Given the description of an element on the screen output the (x, y) to click on. 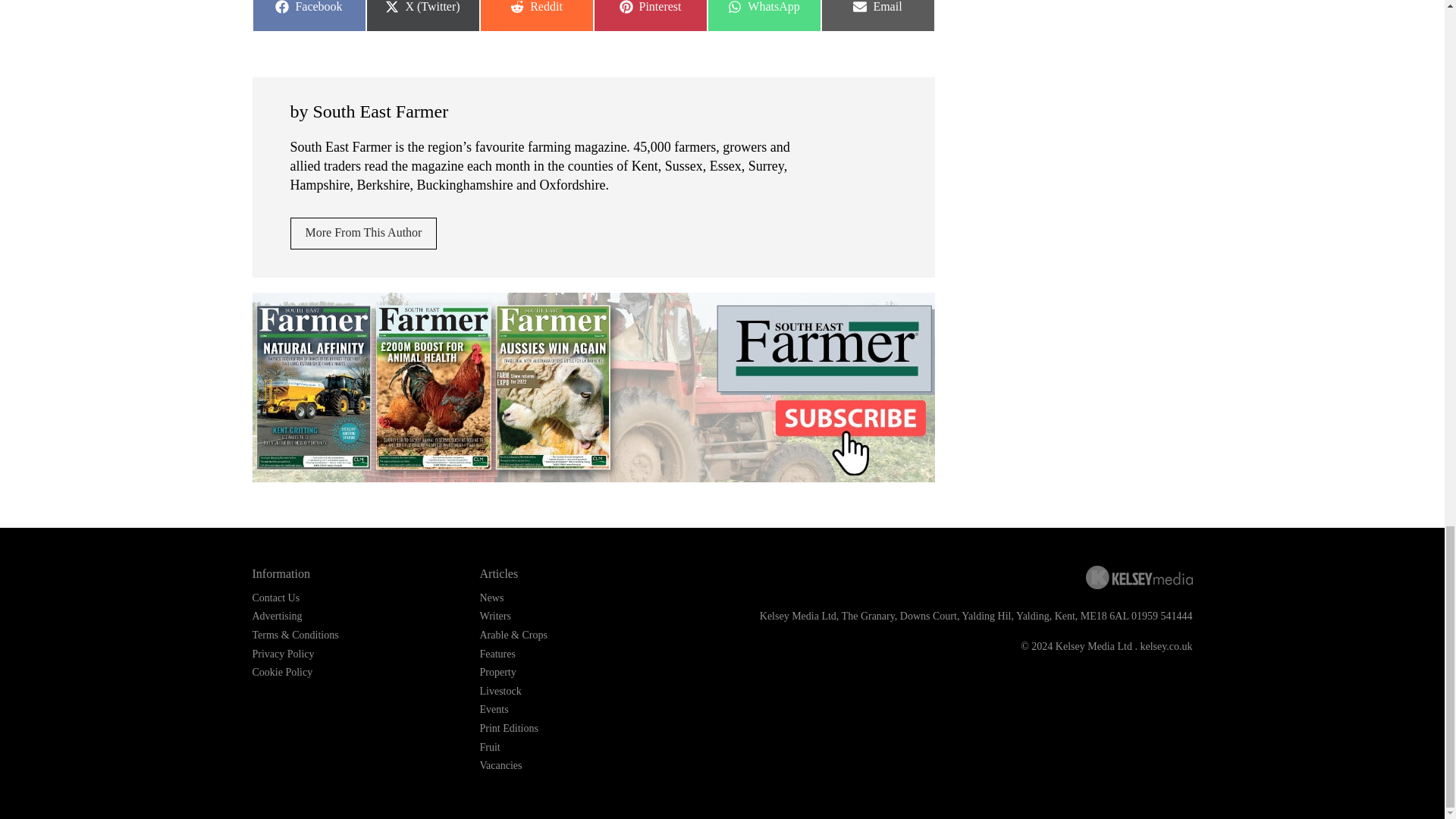
Contact Us (275, 597)
More From This Author (763, 15)
Advertising (362, 233)
